Given the description of an element on the screen output the (x, y) to click on. 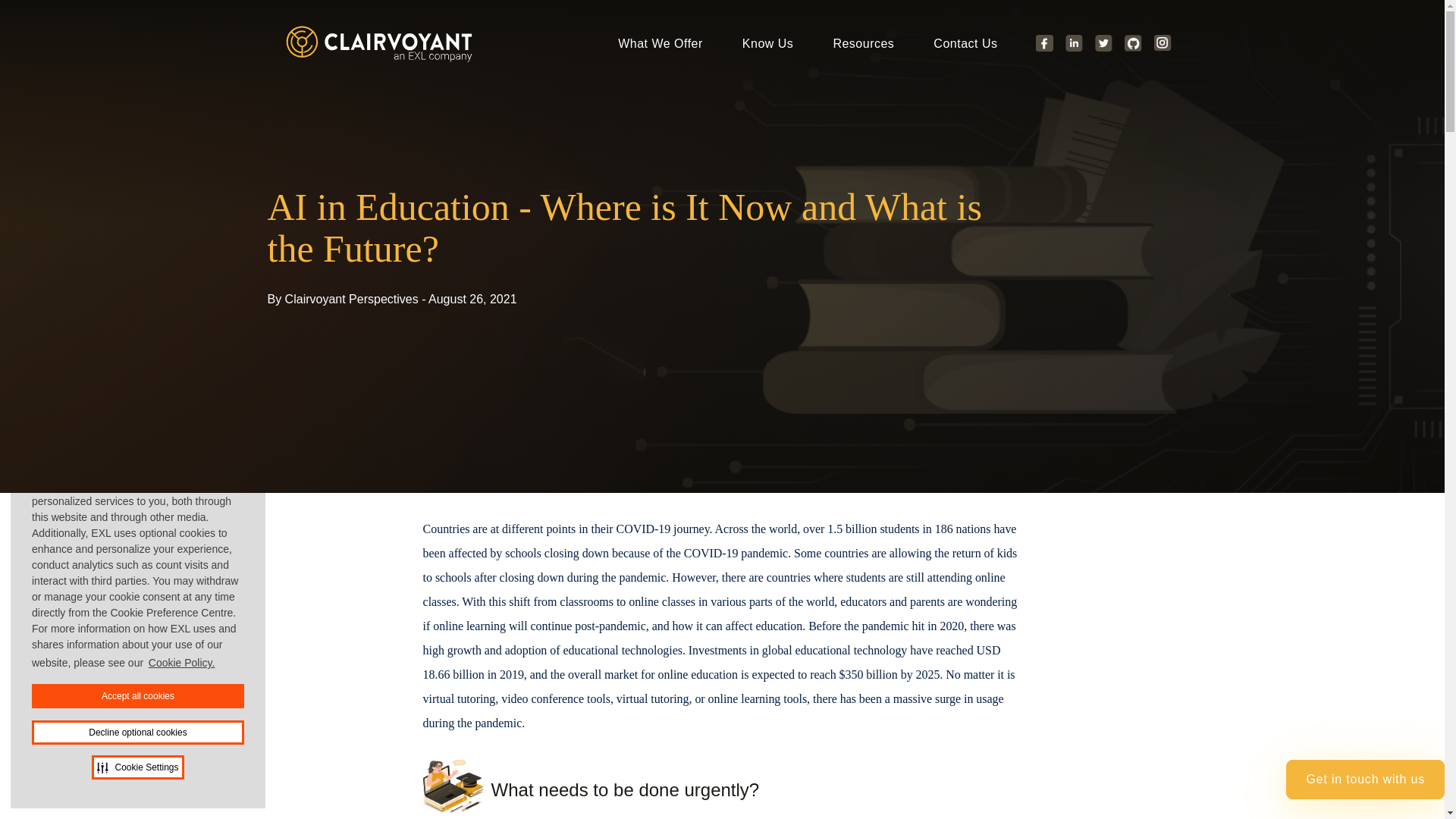
What We Offer (660, 43)
Cookie Policy. (181, 662)
Accept all cookies (138, 695)
Decline optional cookies (138, 732)
Clairvoyant Logo (380, 43)
Cookie Settings (137, 767)
